Given the description of an element on the screen output the (x, y) to click on. 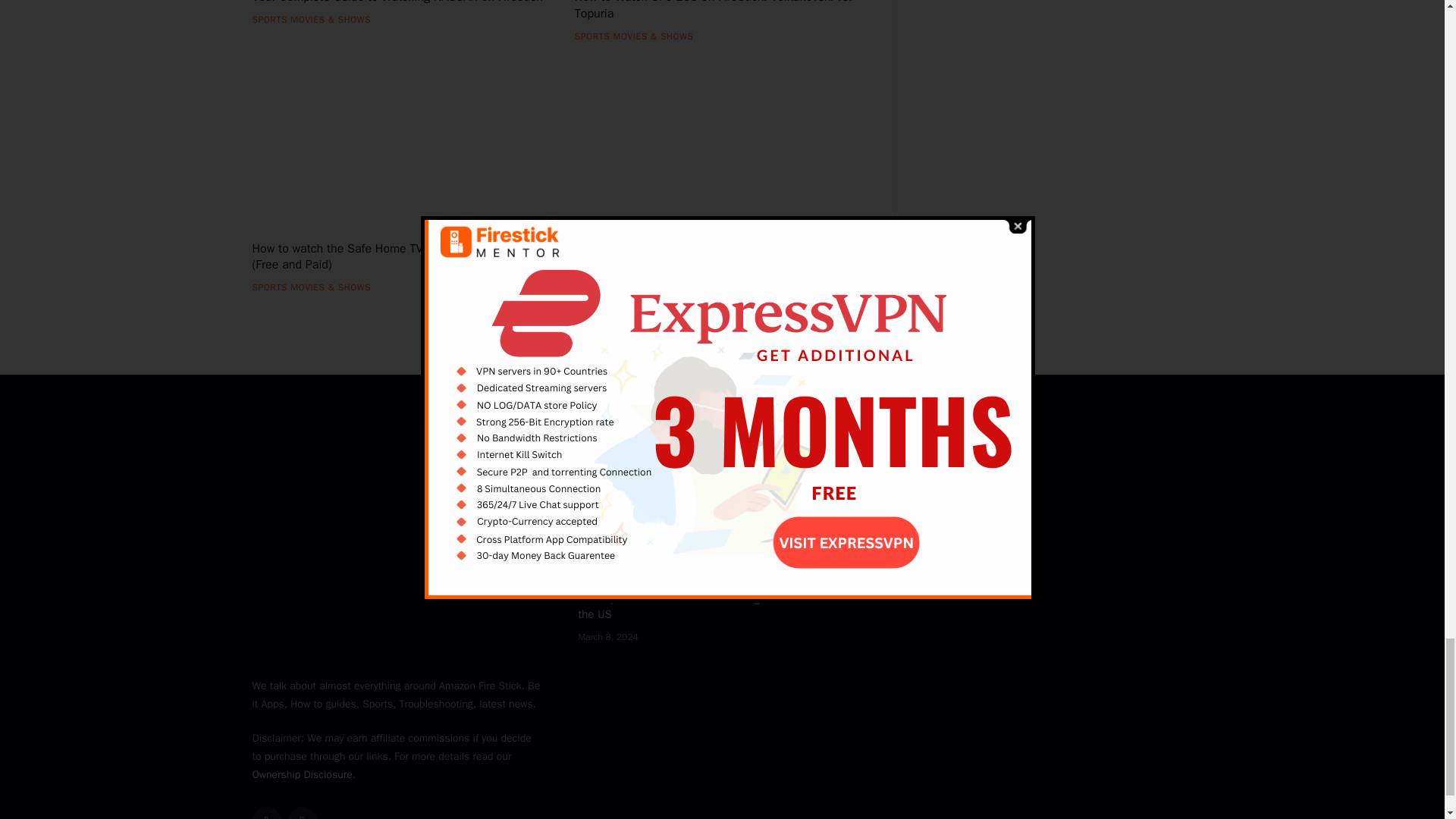
How to Watch UFC 298 on FireStick: Volkanovski vs. Topuria (722, 11)
Your Complete Guide to Watching NASCAR on Firestick (399, 2)
